Given the description of an element on the screen output the (x, y) to click on. 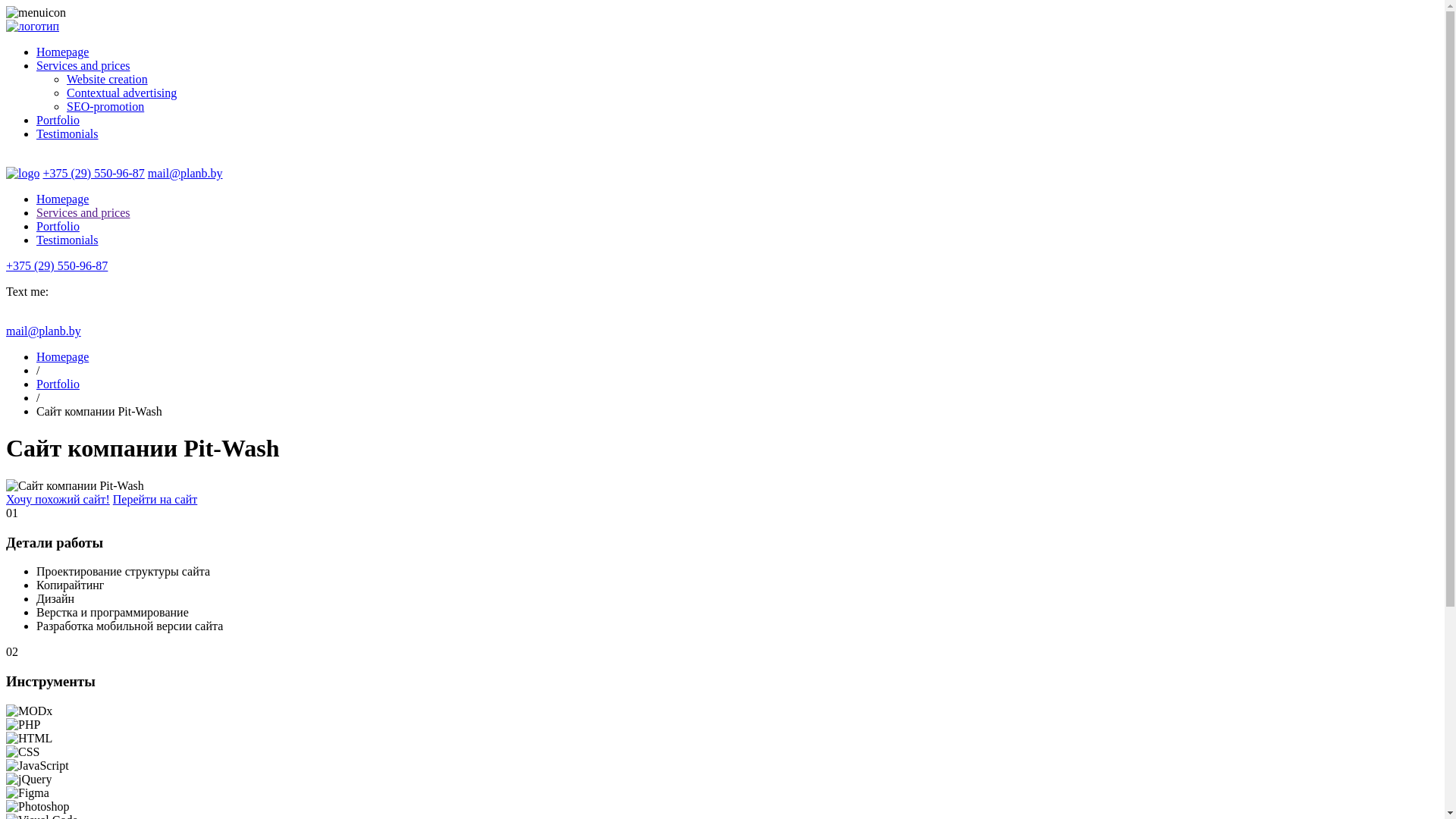
CSS Element type: hover (22, 752)
+375 (29) 550-96-87 Element type: text (93, 172)
HTML Element type: hover (29, 738)
Figma Element type: hover (27, 793)
mail@planb.by Element type: text (43, 330)
Services and prices Element type: text (83, 212)
Portfolio Element type: text (57, 383)
Services and prices Element type: text (83, 65)
Testimonials Element type: text (67, 239)
mail@planb.by Element type: text (184, 172)
Homepage Element type: text (62, 356)
Portfolio Element type: text (57, 225)
Photoshop Element type: hover (37, 806)
Testimonials Element type: text (67, 133)
Homepage Element type: text (62, 51)
MODx Element type: hover (29, 711)
SEO-promotion Element type: text (105, 106)
Contextual advertising Element type: text (121, 92)
Website creation Element type: text (106, 78)
PHP Element type: hover (23, 724)
JavaScript Element type: hover (37, 765)
+375 (29) 550-96-87 Element type: text (56, 265)
Homepage Element type: text (62, 198)
jQuery Element type: hover (28, 779)
Portfolio Element type: text (57, 119)
